Given the description of an element on the screen output the (x, y) to click on. 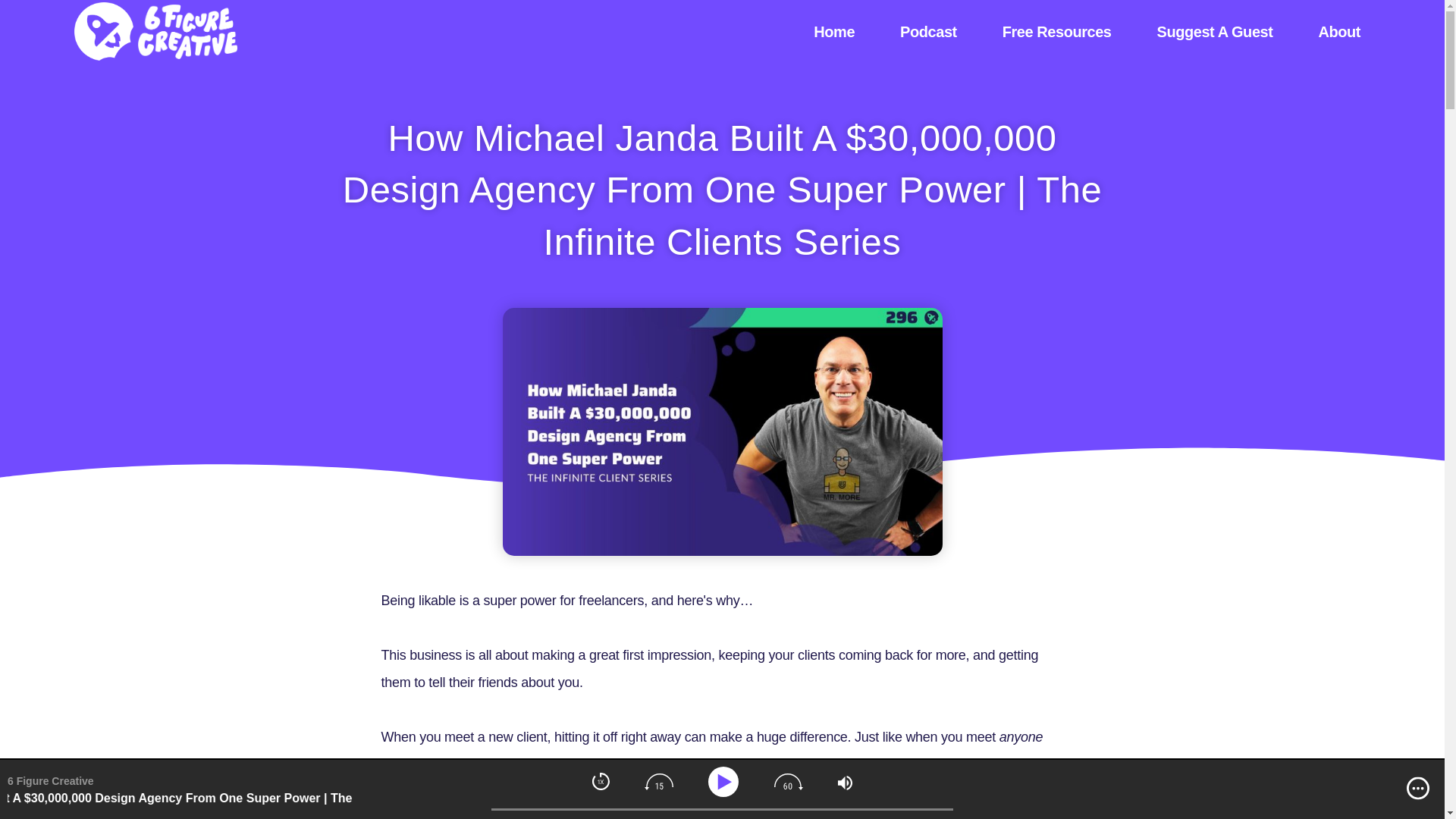
Podcast (927, 31)
Free Resources (1056, 31)
Speed: Normal (601, 781)
Suggest A Guest (1215, 31)
Home (833, 31)
About (1339, 31)
